Given the description of an element on the screen output the (x, y) to click on. 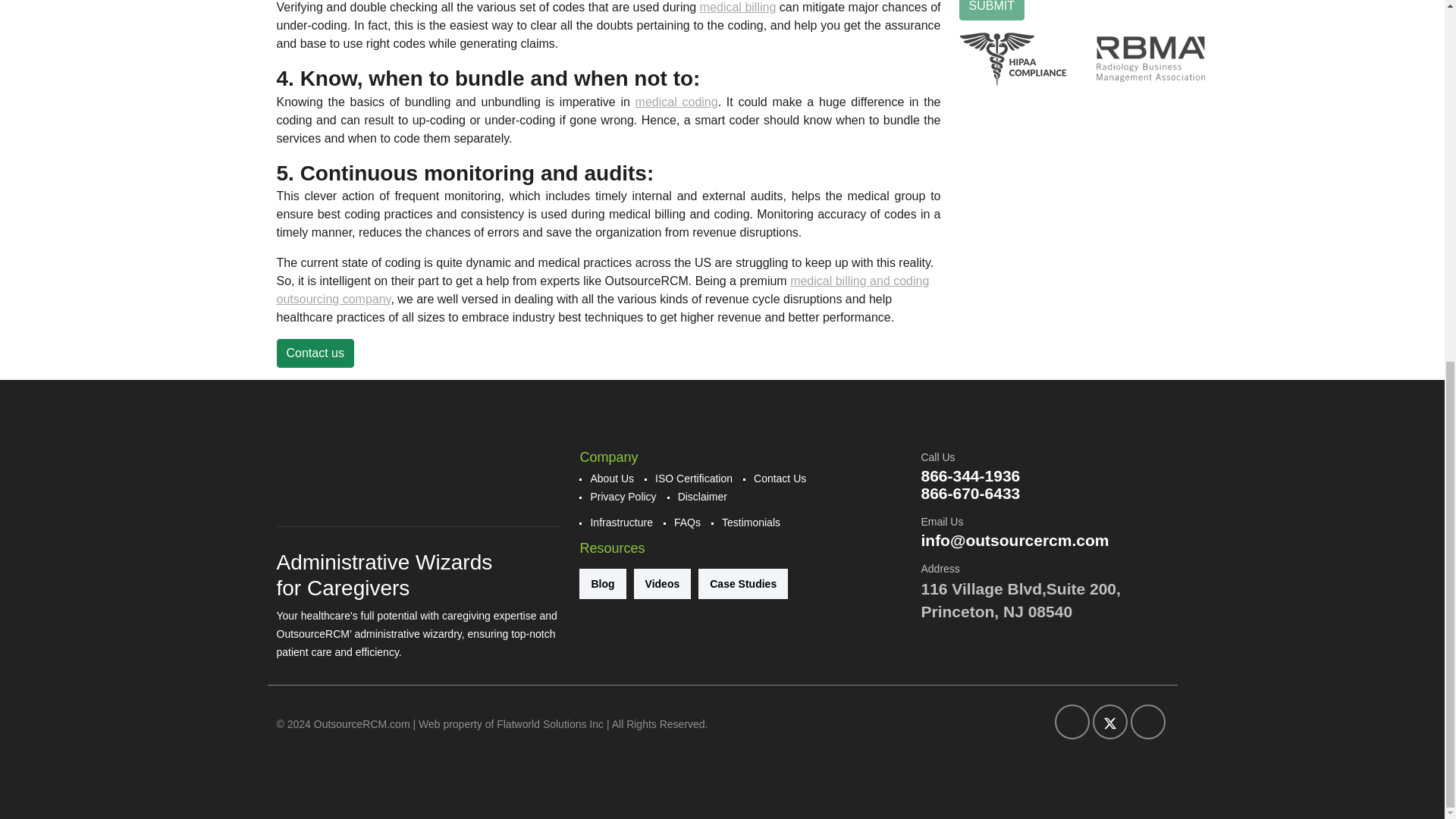
Testimonials (751, 522)
Blog (602, 583)
Twitter (1109, 721)
About Us (611, 478)
Videos (662, 583)
Infrastructure (620, 522)
Case studies (742, 583)
Toll-Free Number (970, 493)
Facebook (1071, 721)
Toll-Free Number (970, 475)
